Given the description of an element on the screen output the (x, y) to click on. 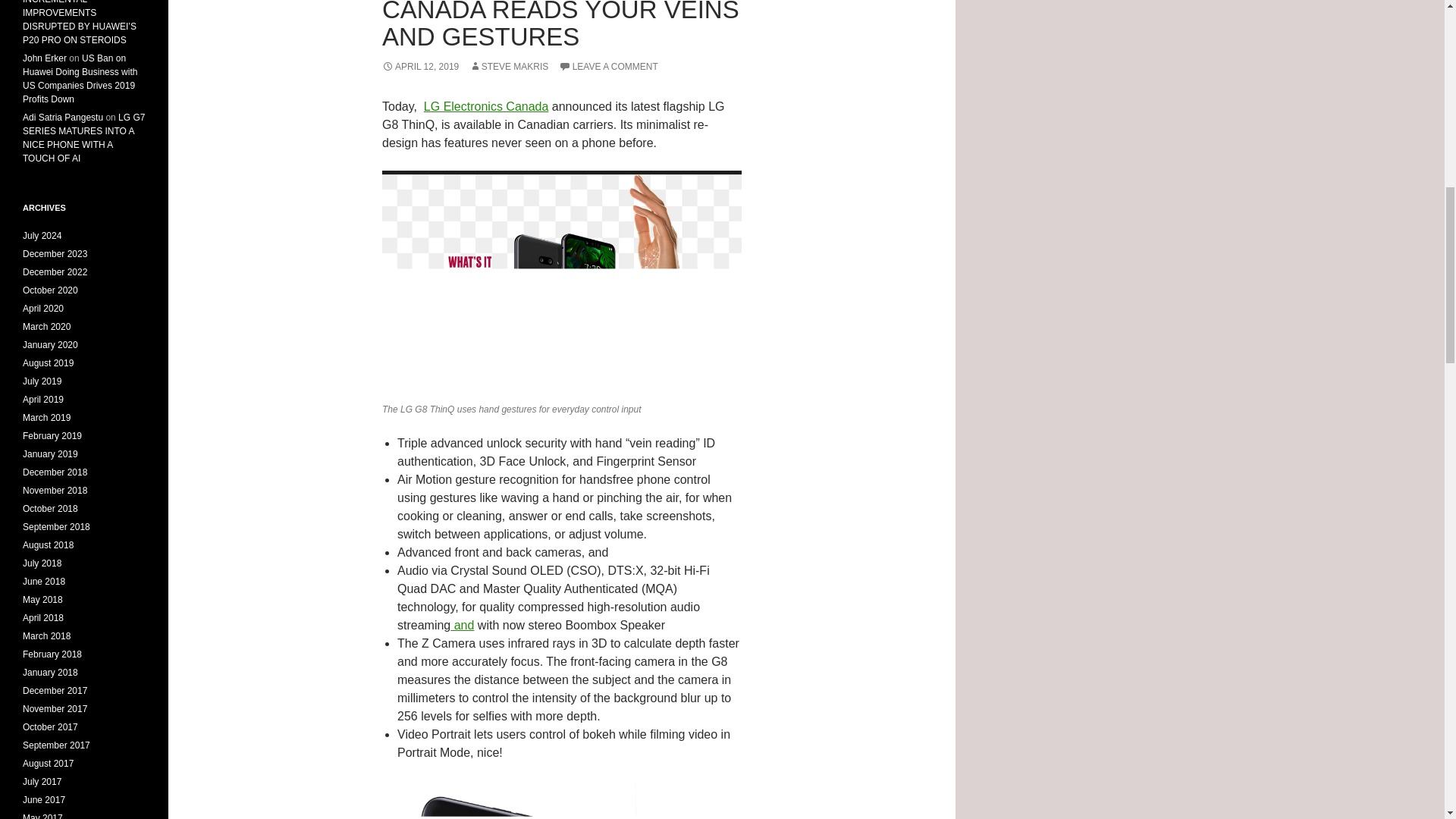
APRIL 12, 2019 (419, 66)
STEVE MAKRIS (508, 66)
and (461, 625)
LG Electronics Canada (485, 106)
John Erker (44, 58)
LEAVE A COMMENT (608, 66)
